Given the description of an element on the screen output the (x, y) to click on. 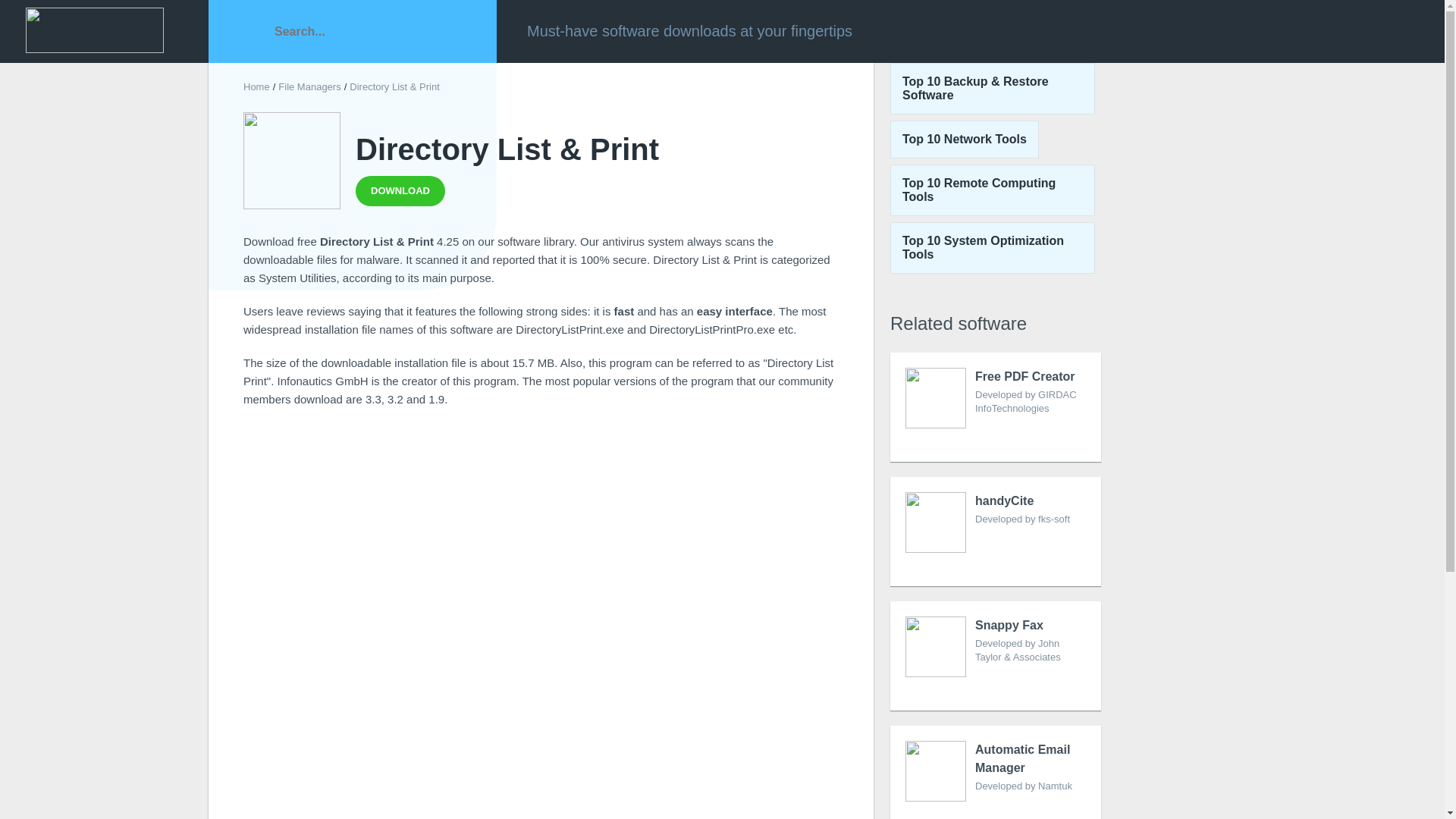
Top 10 Network Tools for Windows (964, 139)
Home (256, 86)
Top 10 System Optimization Tools for Windows (991, 247)
Top 10 System Optimization Tools (994, 531)
Top 10 Remote Computing Tools for Windows (991, 247)
Top 10 Network Tools (991, 190)
Software and Games for Windows (964, 139)
Top 10 Remote Computing Tools (256, 86)
File Managers (991, 190)
Software and Games for Windows (309, 86)
DOWNLOAD (94, 30)
File Managers Software for Windows (994, 406)
